Given the description of an element on the screen output the (x, y) to click on. 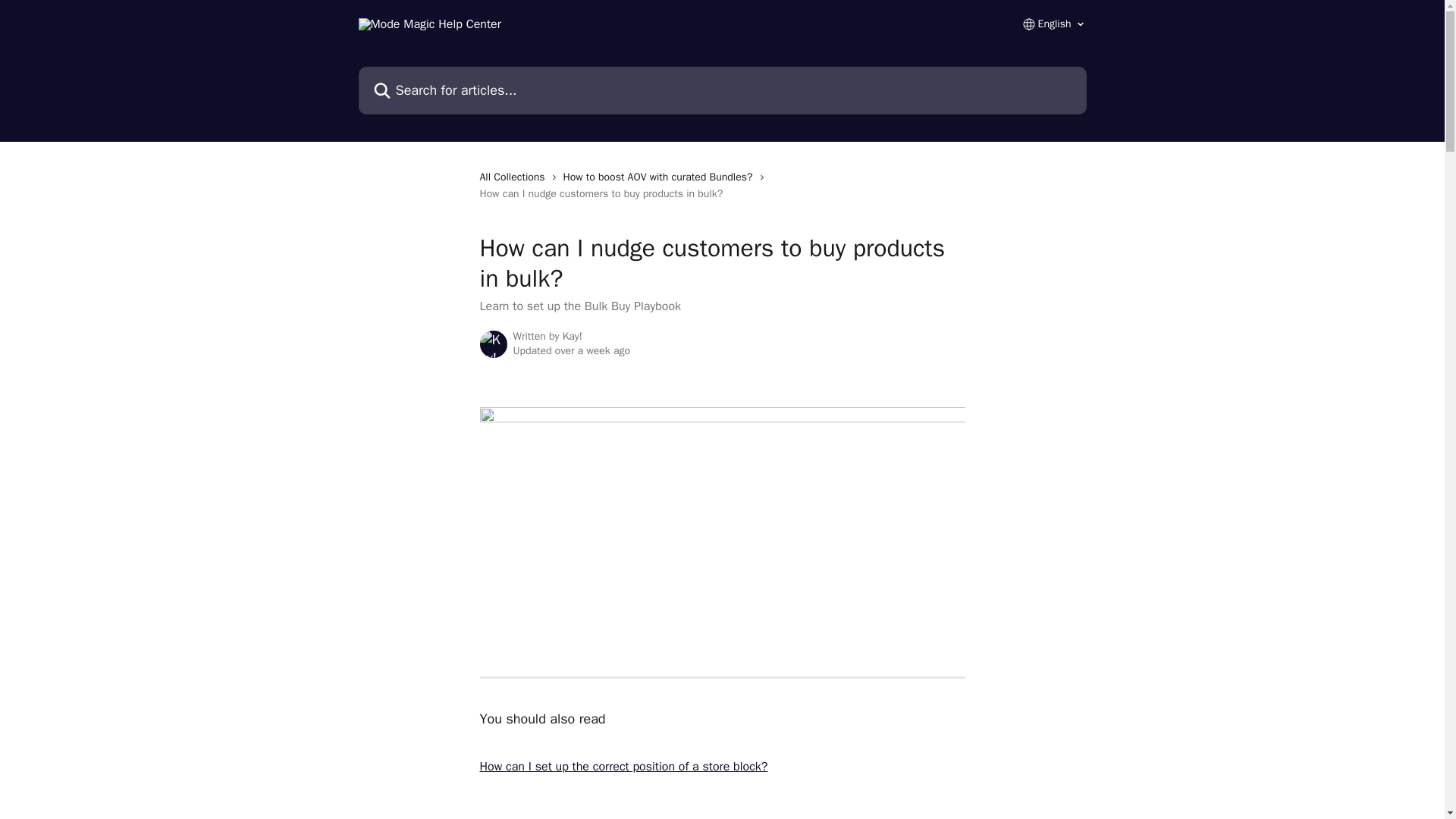
All Collections (514, 176)
How to boost AOV with curated Bundles? (660, 176)
How can I set up the correct position of a store block? (623, 766)
